Given the description of an element on the screen output the (x, y) to click on. 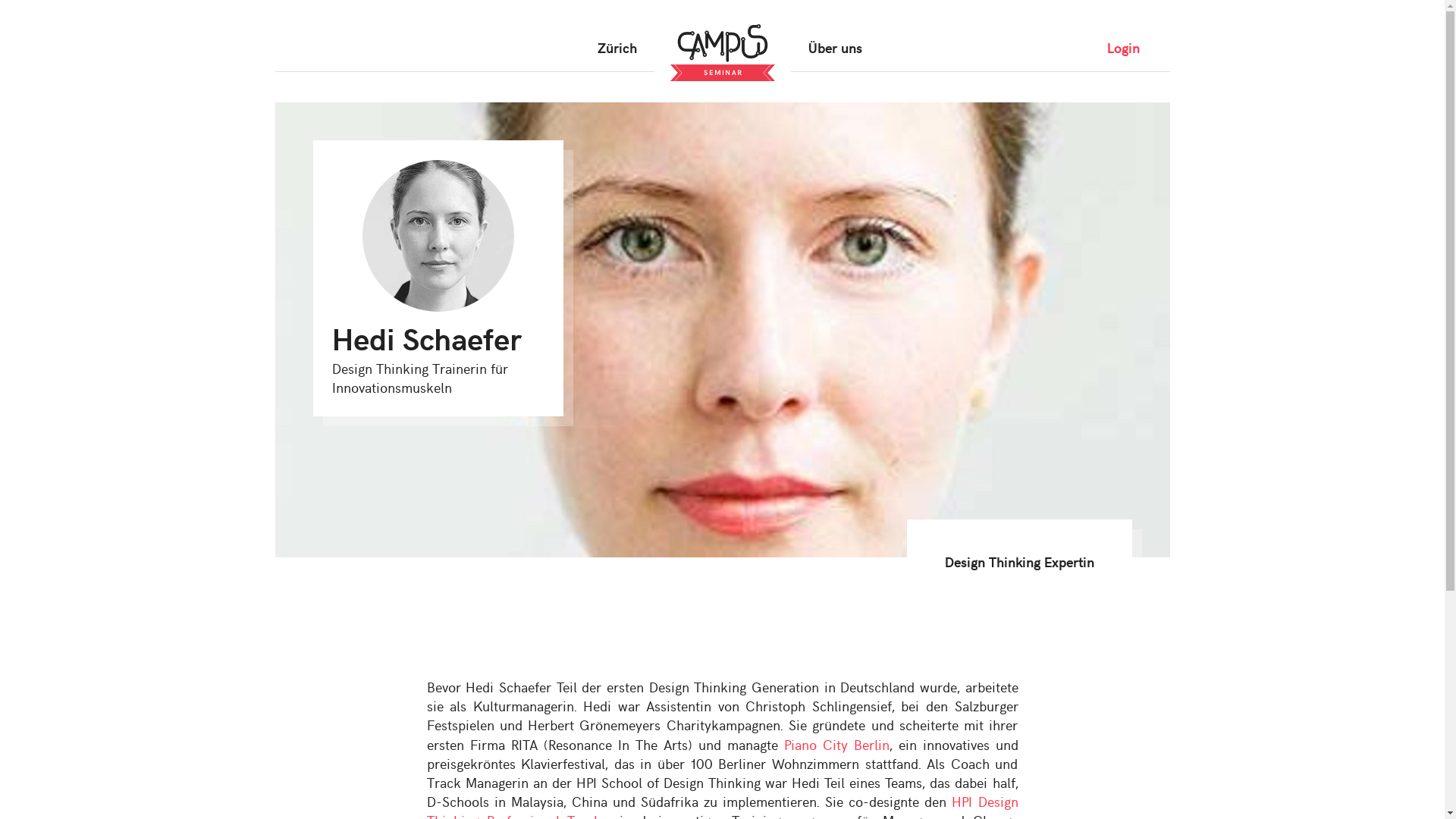
Login Element type: text (1123, 47)
Piano City Berlin Element type: text (836, 743)
